Given the description of an element on the screen output the (x, y) to click on. 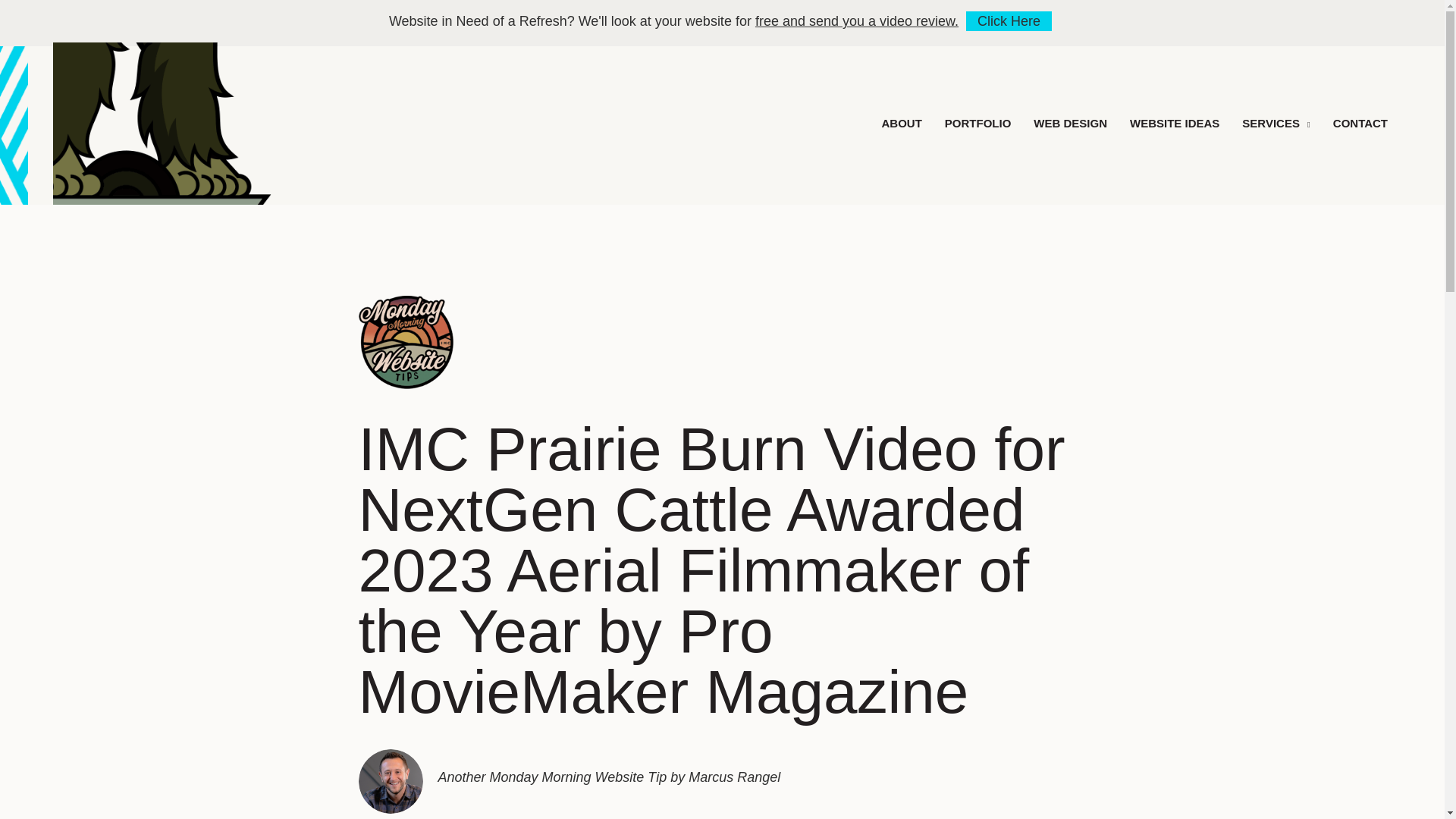
SERVICES (1275, 123)
WEBSITE IDEAS (1174, 122)
Click Here (1008, 21)
marcus (390, 781)
WEB DESIGN (1070, 122)
CONTACT (1359, 122)
PORTFOLIO (978, 122)
imc2024 (166, 123)
ABOUT (900, 122)
monday-morning-tips (405, 341)
